Given the description of an element on the screen output the (x, y) to click on. 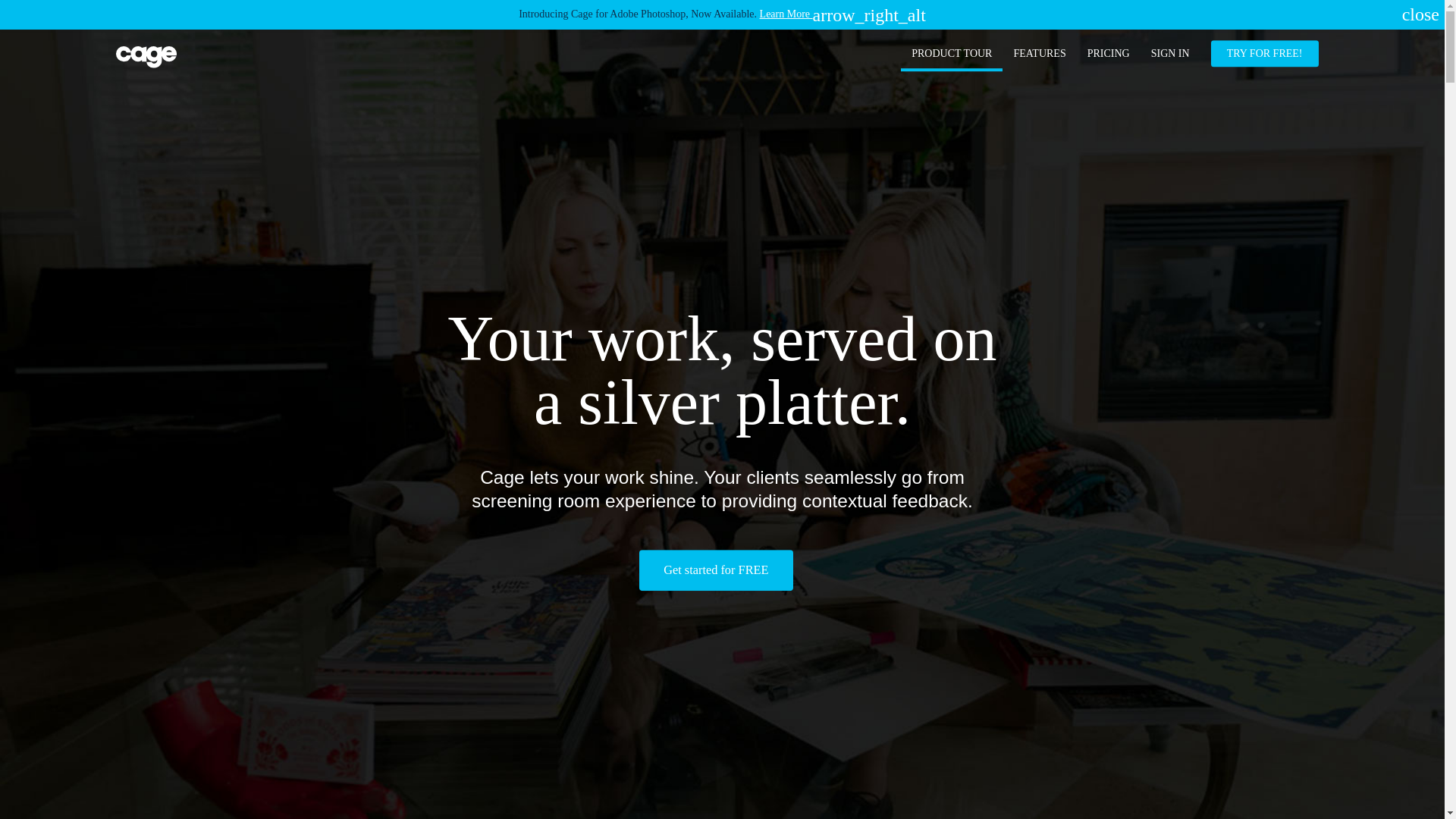
PRODUCT TOUR (951, 52)
Pricing (1108, 52)
cage (145, 56)
PRICING (1108, 52)
TRY FOR FREE! (1265, 53)
Sign In (1170, 52)
Features (1039, 52)
Sign Up (1265, 53)
SIGN IN (1170, 52)
FEATURES (1039, 52)
